Given the description of an element on the screen output the (x, y) to click on. 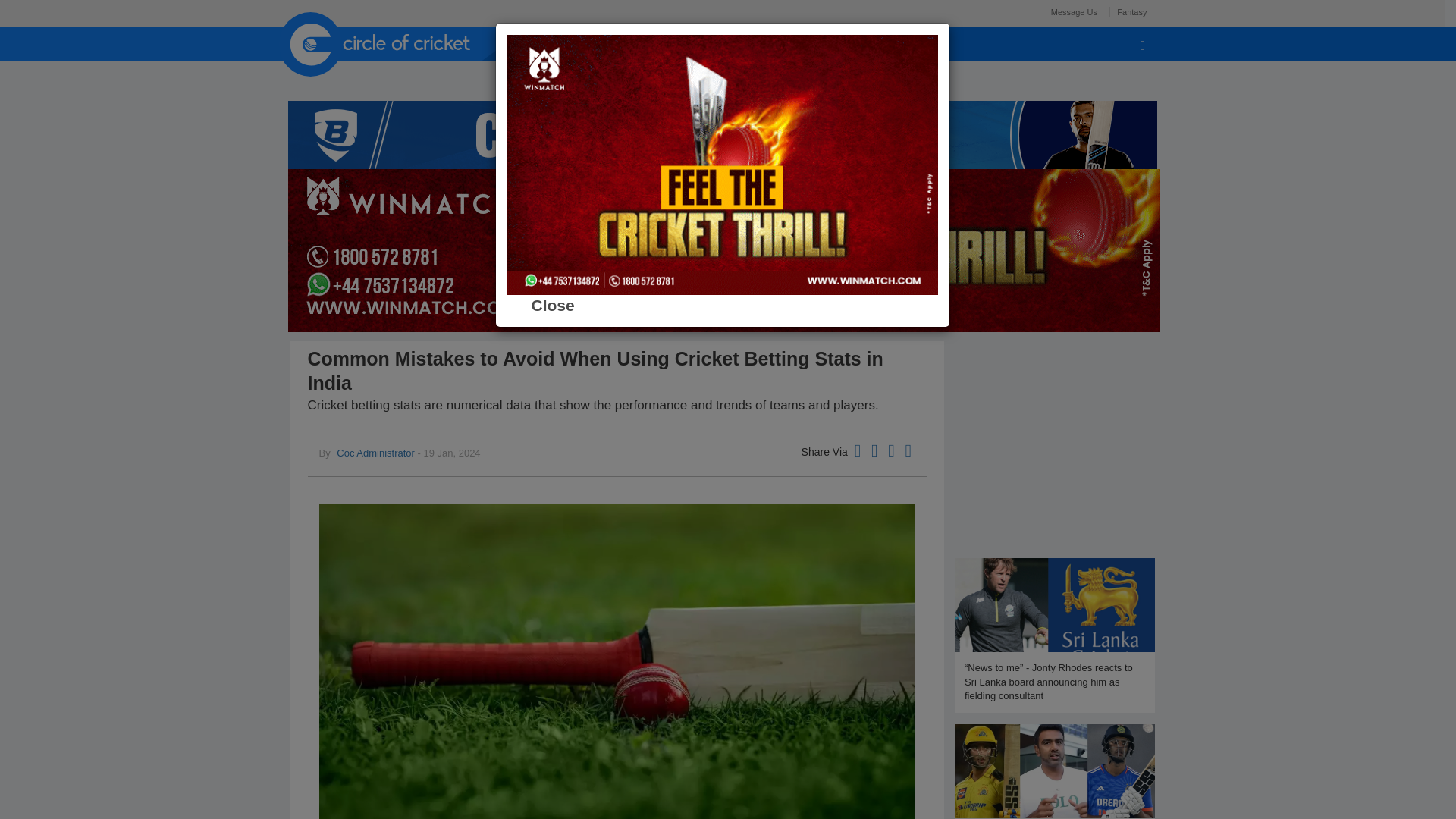
Fantasy (1131, 11)
Advertisement (1054, 447)
COC Hindi (769, 43)
Featured (552, 43)
Close (552, 304)
Message Us (1074, 11)
Humour (617, 43)
WORLD TEST CHAMPIONSHIP (765, 76)
NEWS (625, 76)
Social Scoop (690, 43)
